Given the description of an element on the screen output the (x, y) to click on. 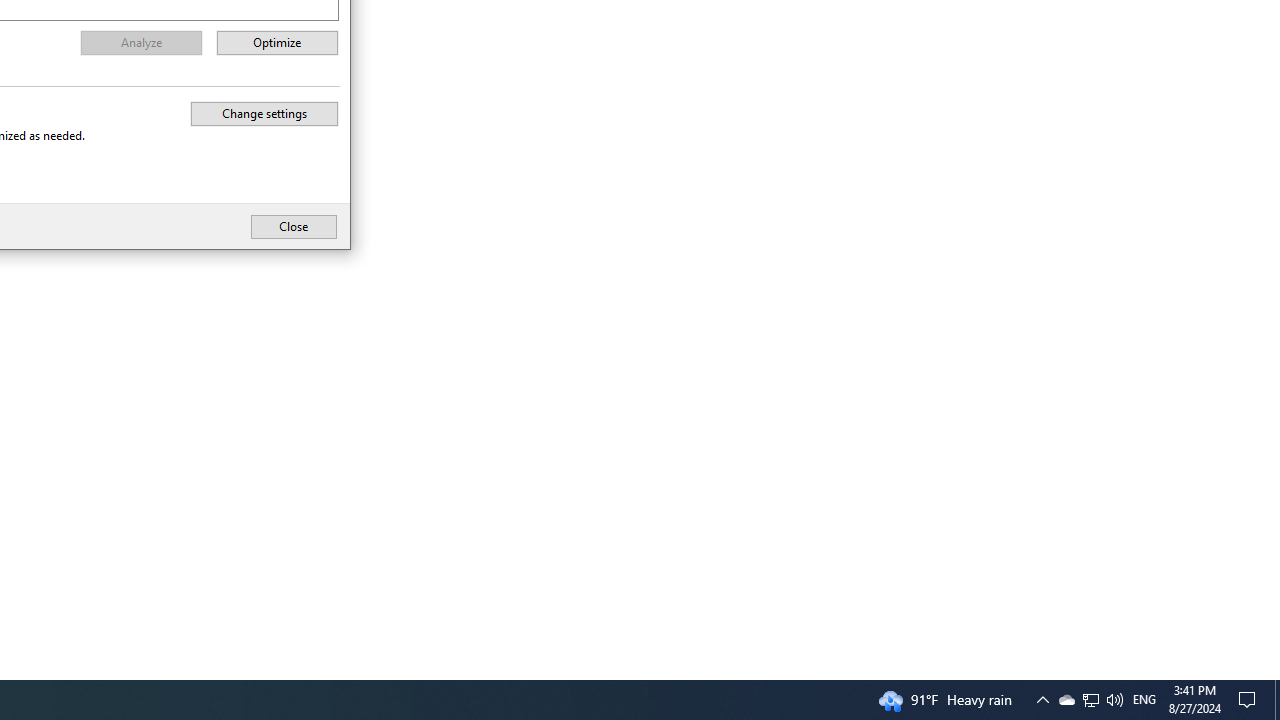
Close (293, 226)
Notification Chevron (1091, 699)
Change settings (1042, 699)
Optimize (264, 113)
Show desktop (277, 43)
User Promoted Notification Area (1277, 699)
Tray Input Indicator - English (United States) (1090, 699)
Action Center, No new notifications (1144, 699)
Q2790: 100% (1250, 699)
Analyze (1066, 699)
